Given the description of an element on the screen output the (x, y) to click on. 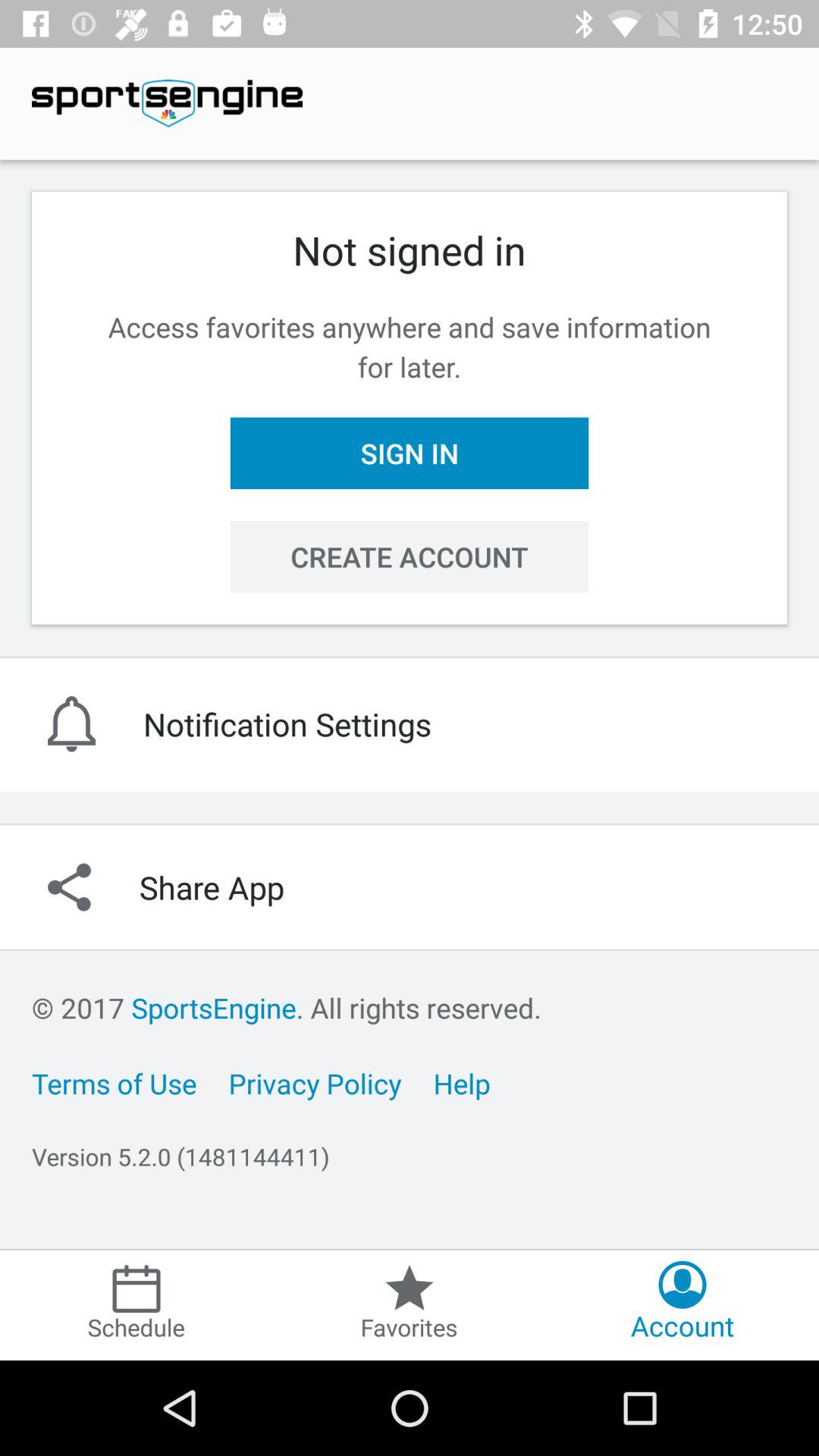
turn off the item above terms of use item (286, 1007)
